Given the description of an element on the screen output the (x, y) to click on. 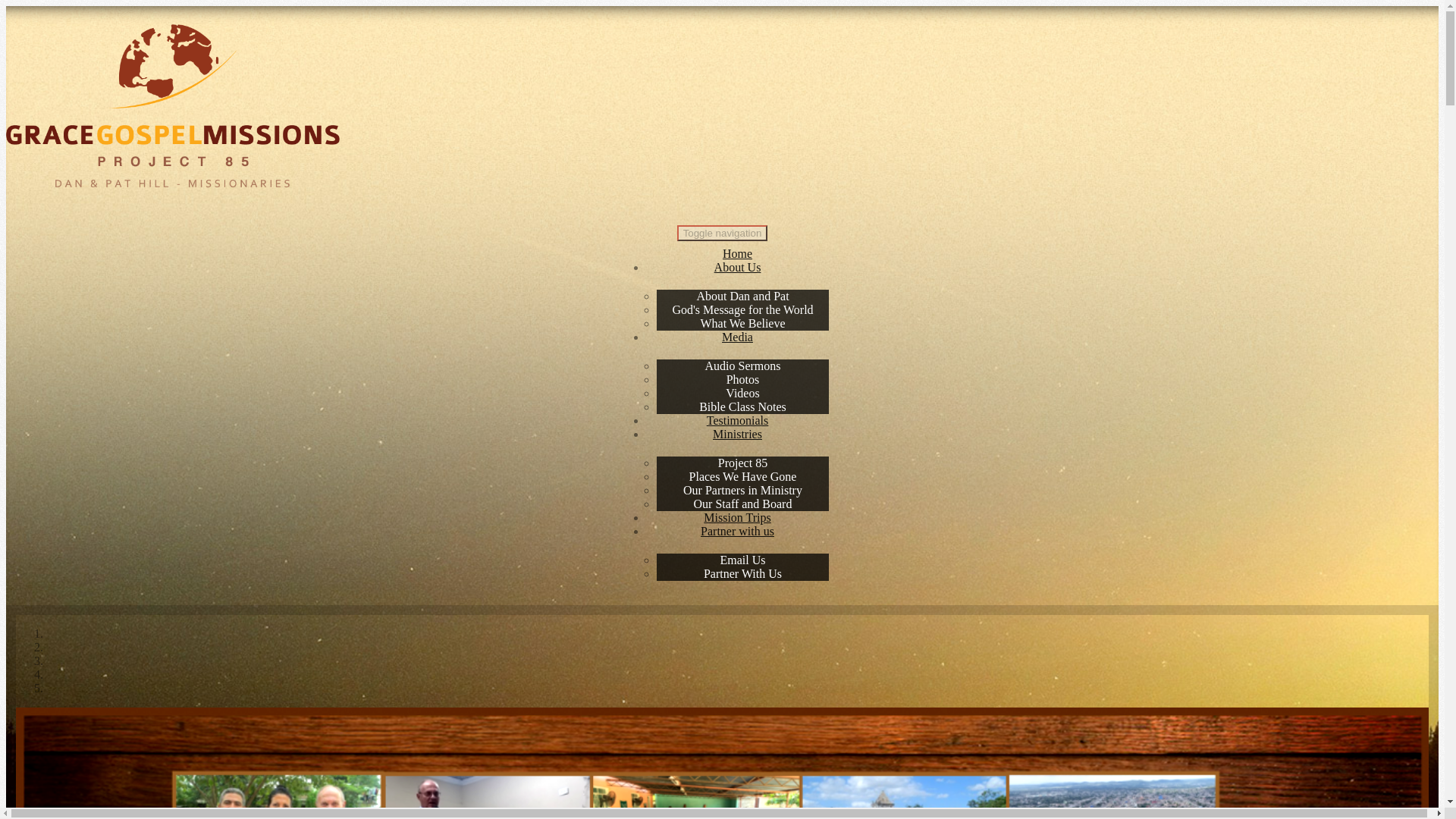
Bible Class Notes (743, 406)
Partner with us (737, 530)
Partner With Us (742, 573)
Audio Sermons (743, 365)
Our Staff and Board (743, 504)
God's Message for the World (742, 309)
Testimonials (737, 420)
What We Believe (741, 323)
Mission Trips (737, 517)
Ministries (737, 433)
Media (737, 336)
About Dan and Pat (742, 296)
Our Partners in Ministry (742, 490)
Places We Have Gone (743, 476)
Home (737, 253)
